Given the description of an element on the screen output the (x, y) to click on. 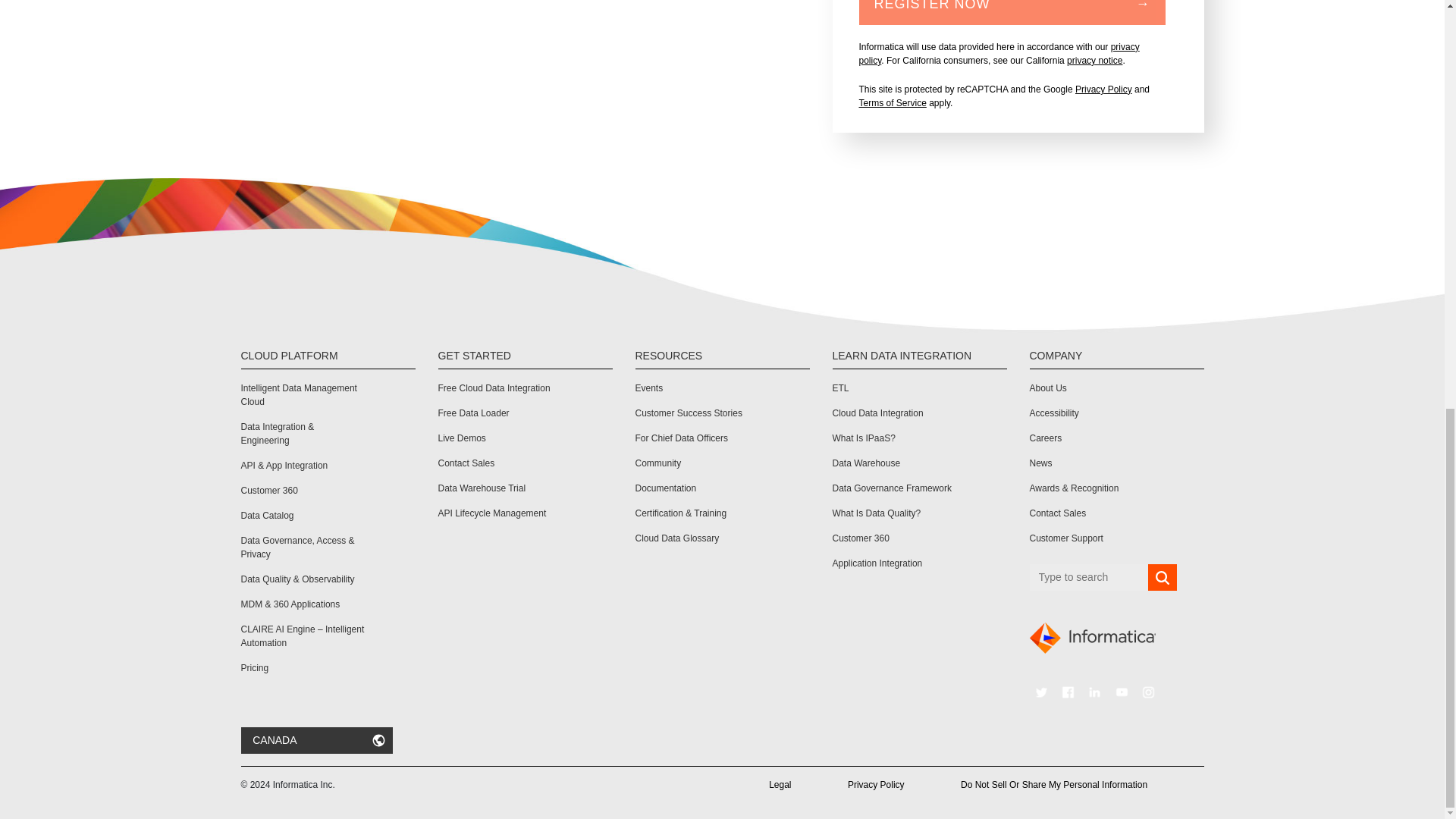
Terms of Service (892, 102)
privacy policy (998, 53)
Insert a query. Press enter to send (1088, 577)
privacy notice (1094, 60)
Search (1162, 577)
Privacy Policy (1103, 89)
